Given the description of an element on the screen output the (x, y) to click on. 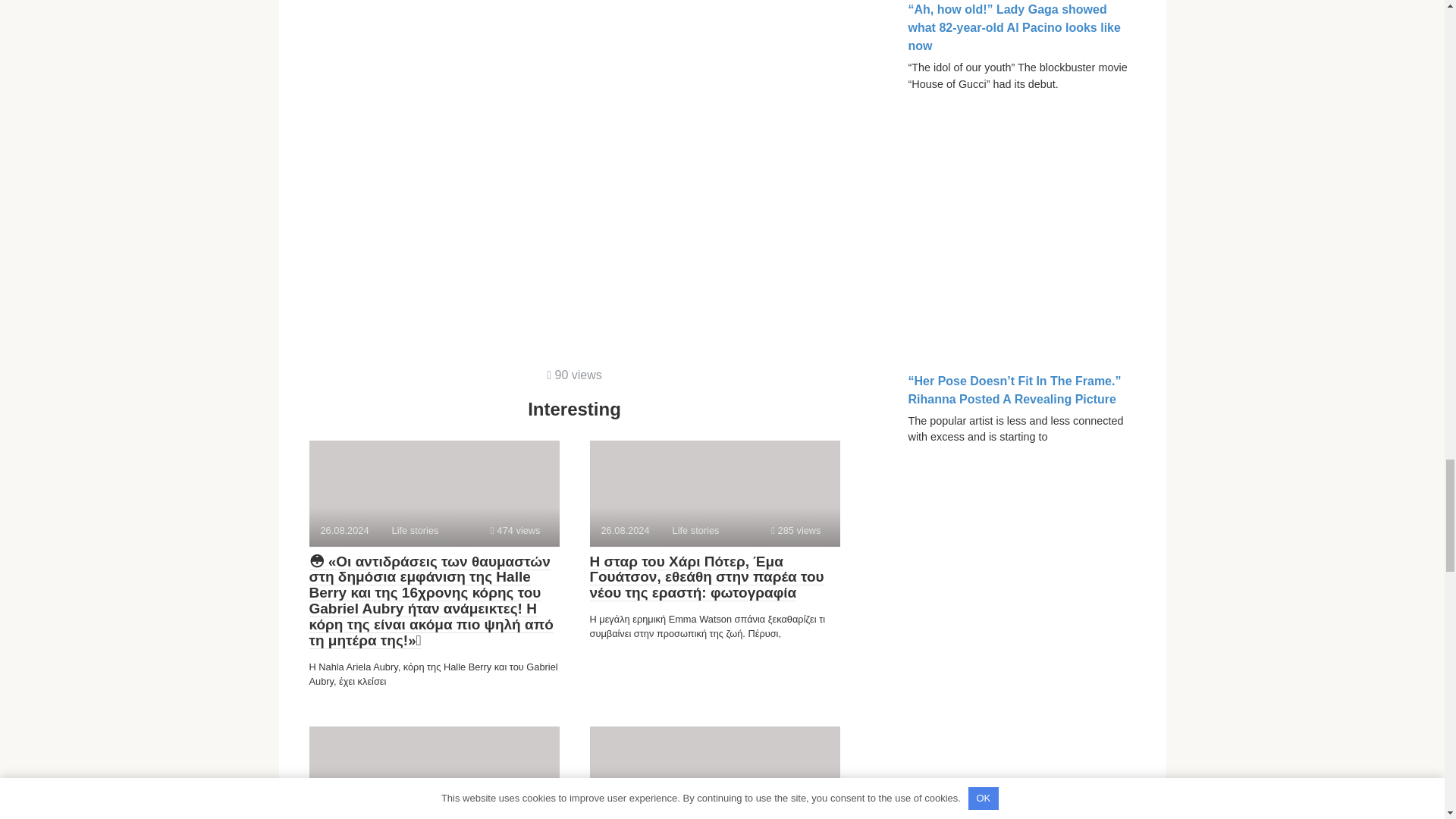
Views (574, 374)
Views (433, 772)
Views (796, 530)
Views (433, 492)
Views (714, 492)
